Given the description of an element on the screen output the (x, y) to click on. 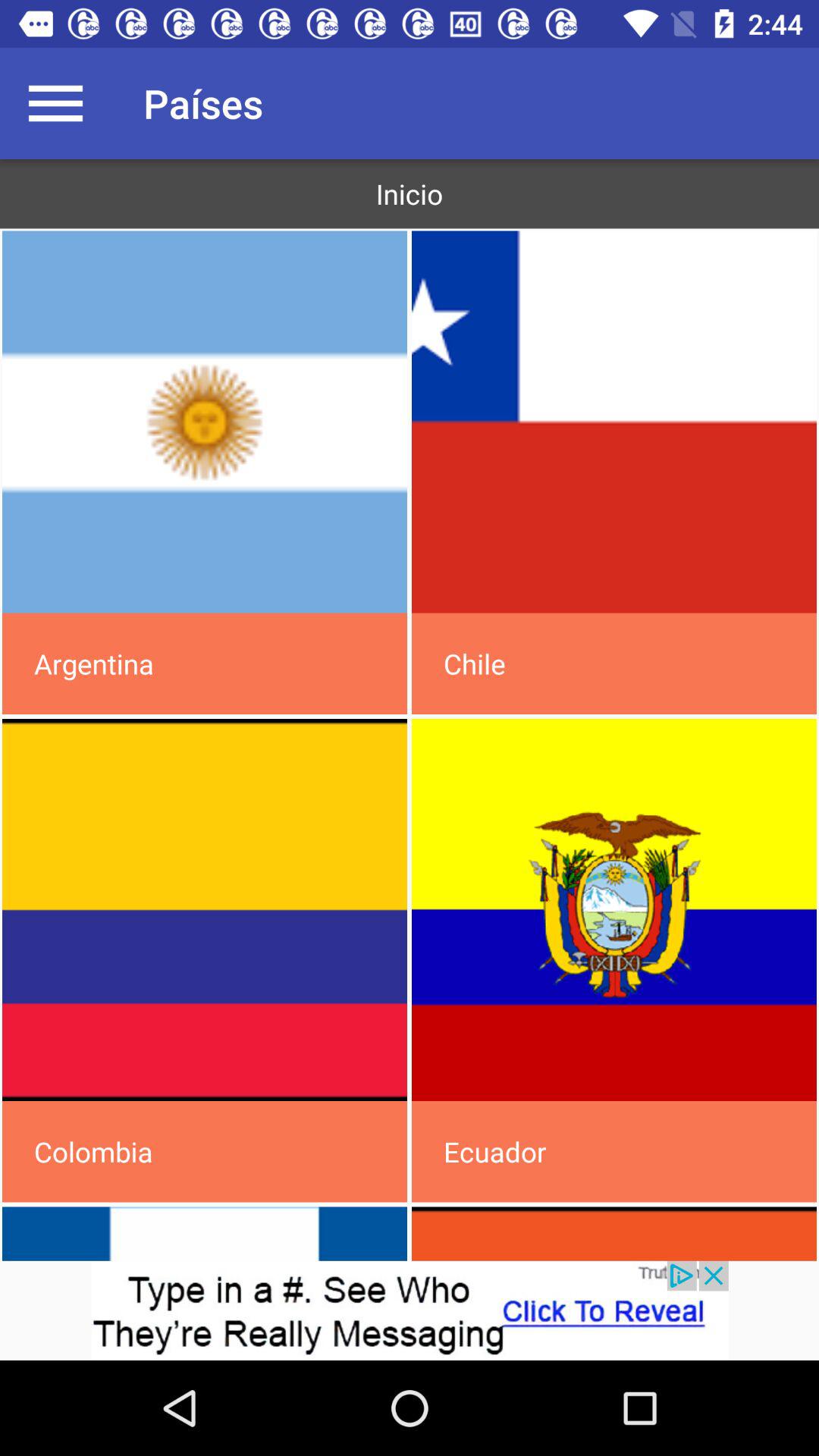
advertising bar (409, 1310)
